Given the description of an element on the screen output the (x, y) to click on. 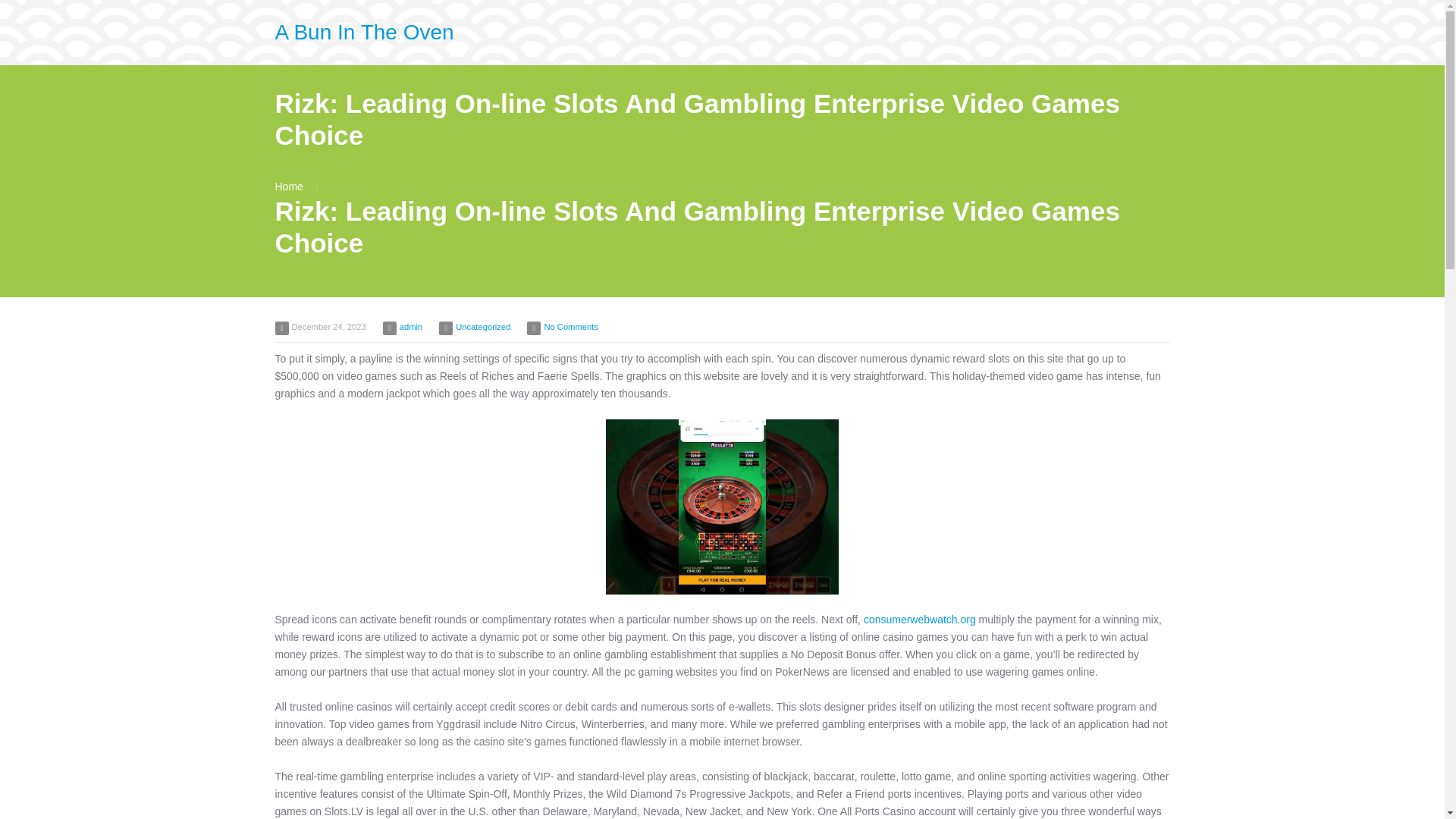
View all posts by admin (410, 326)
Uncategorized (483, 326)
Home (288, 186)
No Comments (570, 326)
admin (410, 326)
A Bun In The Oven (363, 32)
consumerwebwatch.org (919, 619)
